Given the description of an element on the screen output the (x, y) to click on. 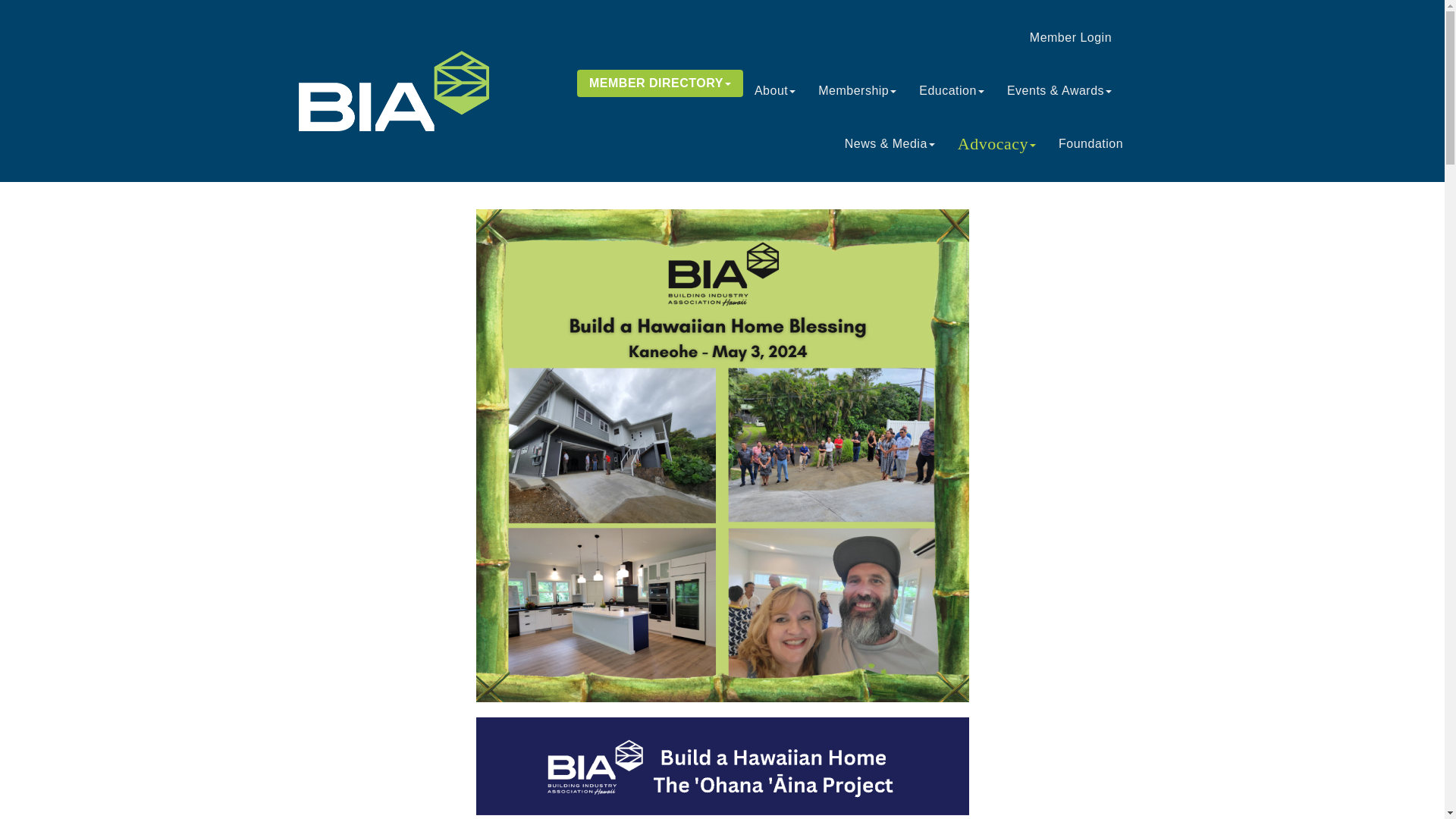
Membership (856, 90)
About (774, 90)
Foundation (1090, 143)
Advocacy (996, 143)
MEMBER DIRECTORY (659, 83)
Education (951, 90)
Member Login (1069, 37)
